Given the description of an element on the screen output the (x, y) to click on. 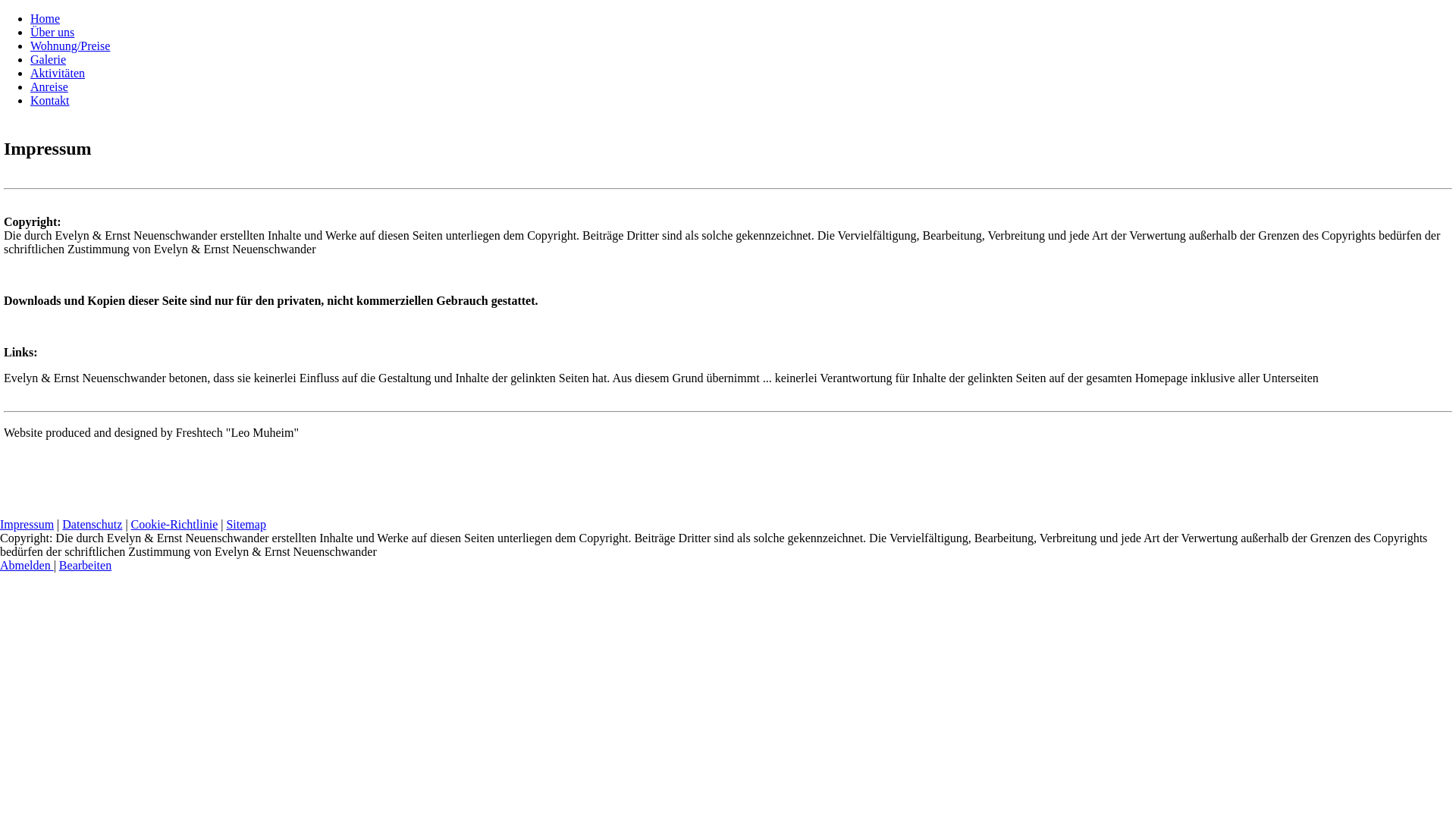
Anreise Element type: text (49, 86)
Sitemap Element type: text (245, 523)
Galerie Element type: text (47, 59)
Datenschutz Element type: text (92, 523)
Abmelden Element type: text (26, 564)
Kontakt Element type: text (49, 100)
Cookie-Richtlinie Element type: text (174, 523)
Wohnung/Preise Element type: text (69, 45)
Home Element type: text (44, 18)
Impressum Element type: text (26, 523)
Bearbeiten Element type: text (85, 564)
